Given the description of an element on the screen output the (x, y) to click on. 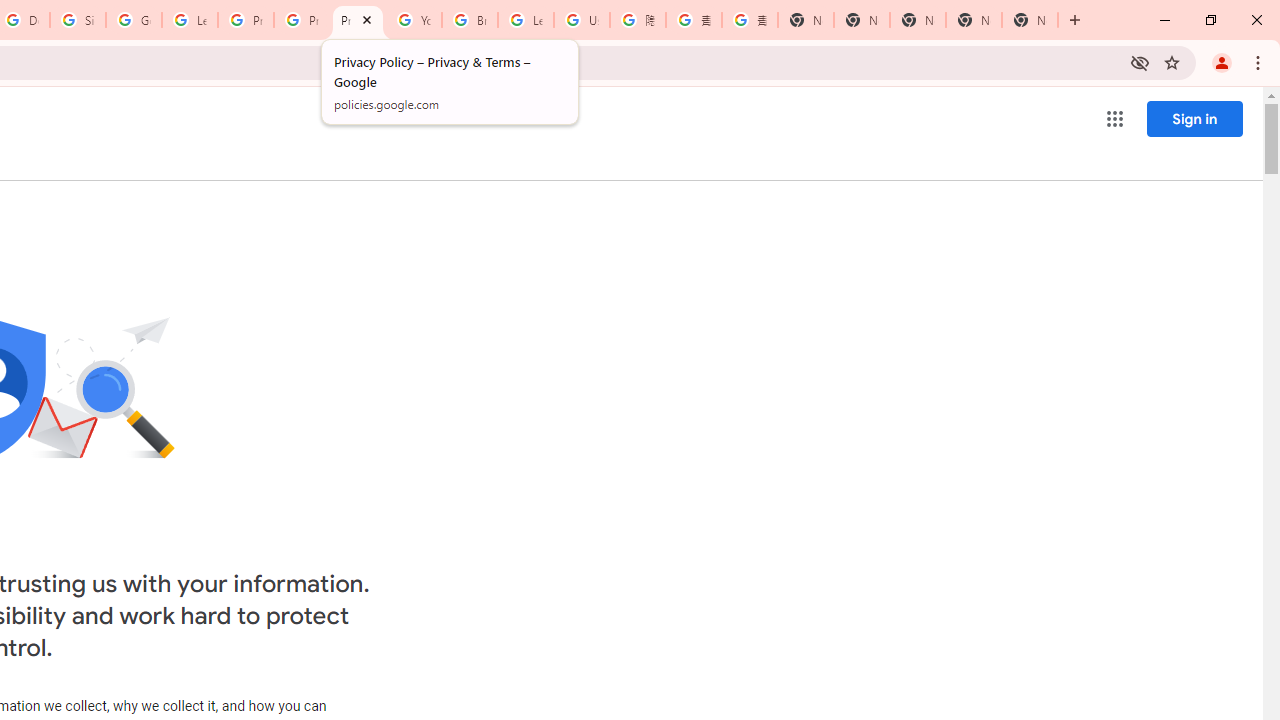
Privacy Help Center - Policies Help (245, 20)
Privacy Help Center - Policies Help (301, 20)
Sign in - Google Accounts (77, 20)
Google apps (1114, 118)
New Tab (1030, 20)
Browse Chrome as a guest - Computer - Google Chrome Help (469, 20)
YouTube (413, 20)
Third-party cookies blocked (1139, 62)
